Given the description of an element on the screen output the (x, y) to click on. 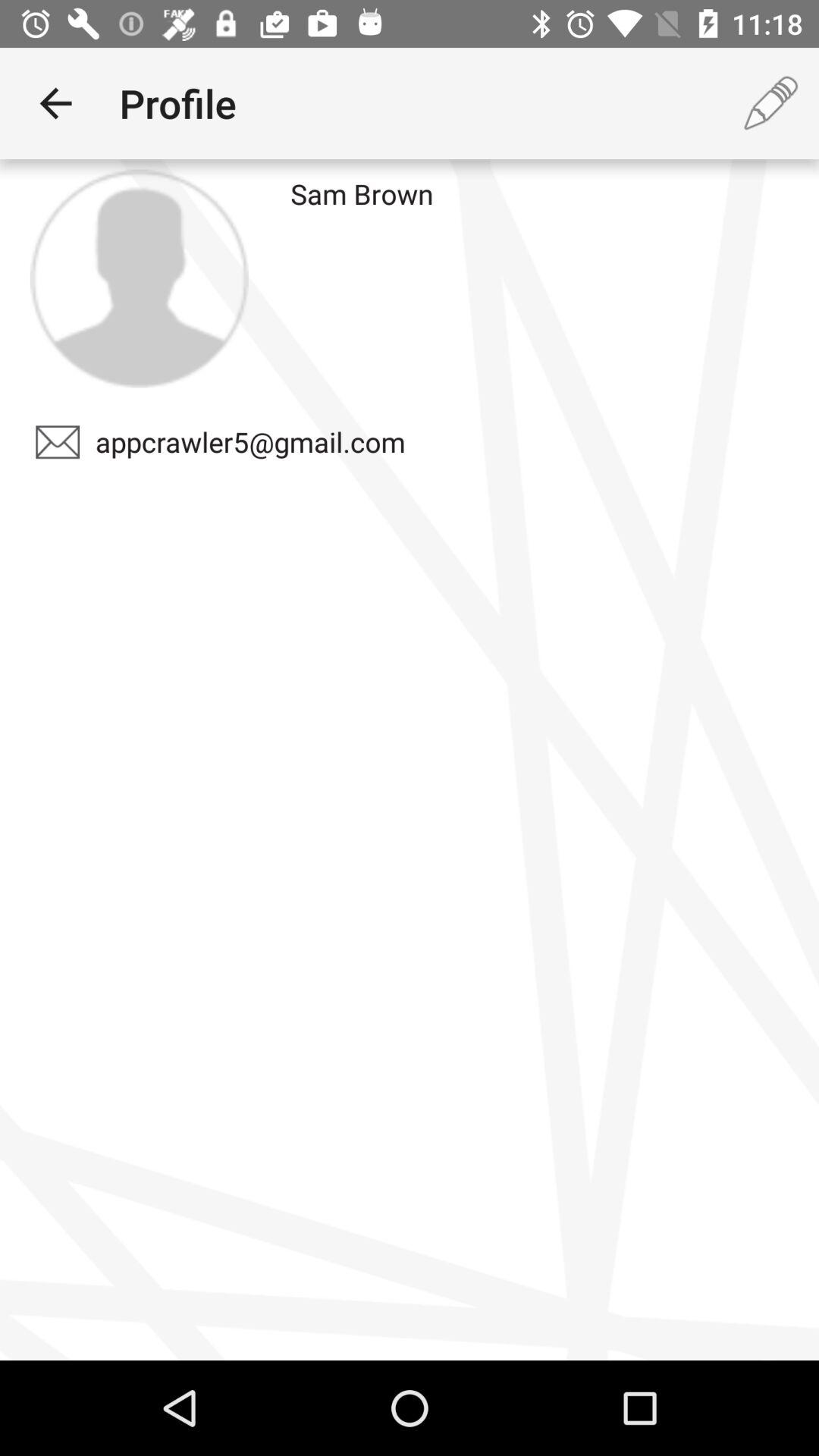
select item to the right of the sam brown icon (771, 103)
